Given the description of an element on the screen output the (x, y) to click on. 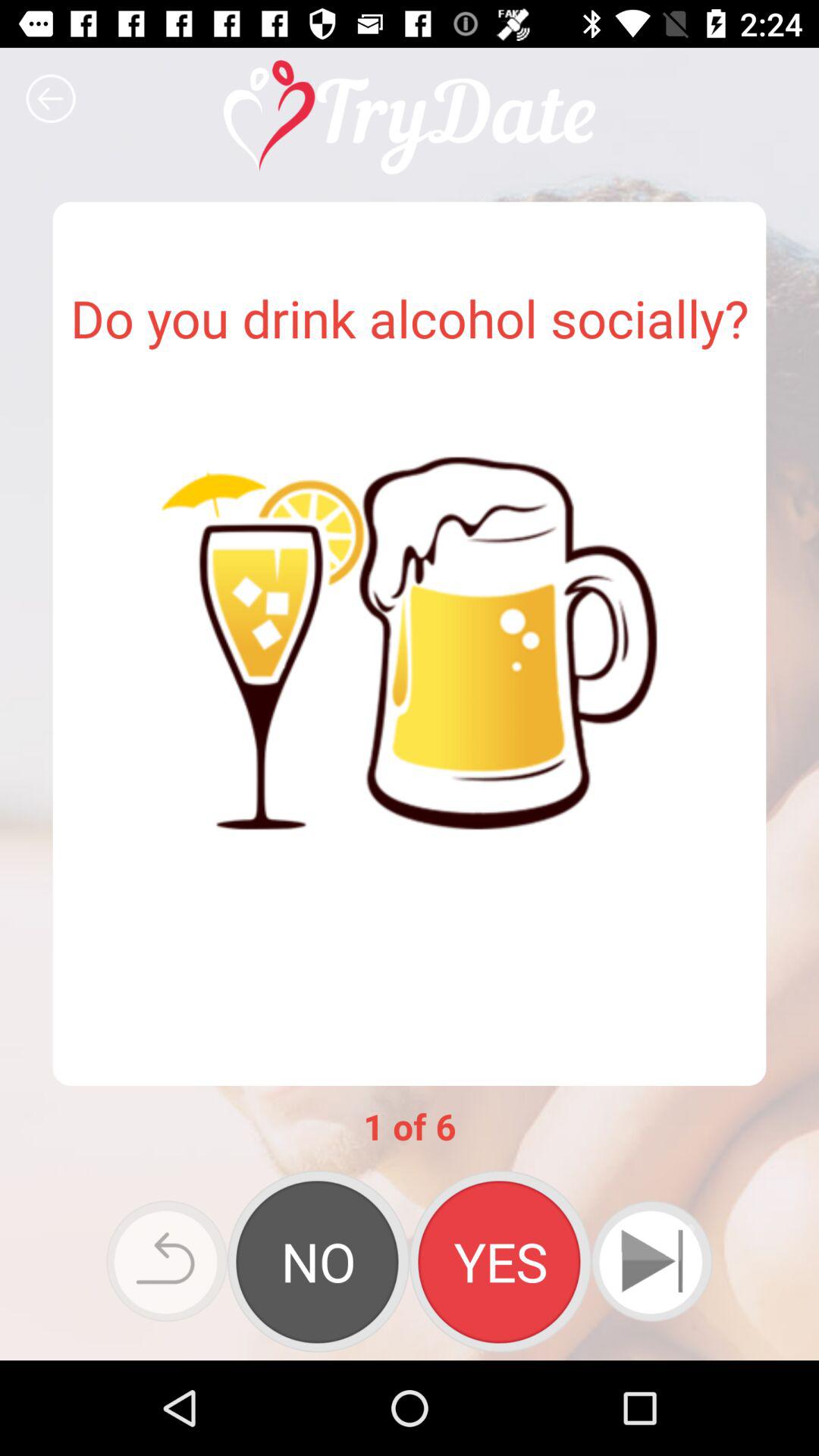
click app above do you drink item (50, 98)
